Given the description of an element on the screen output the (x, y) to click on. 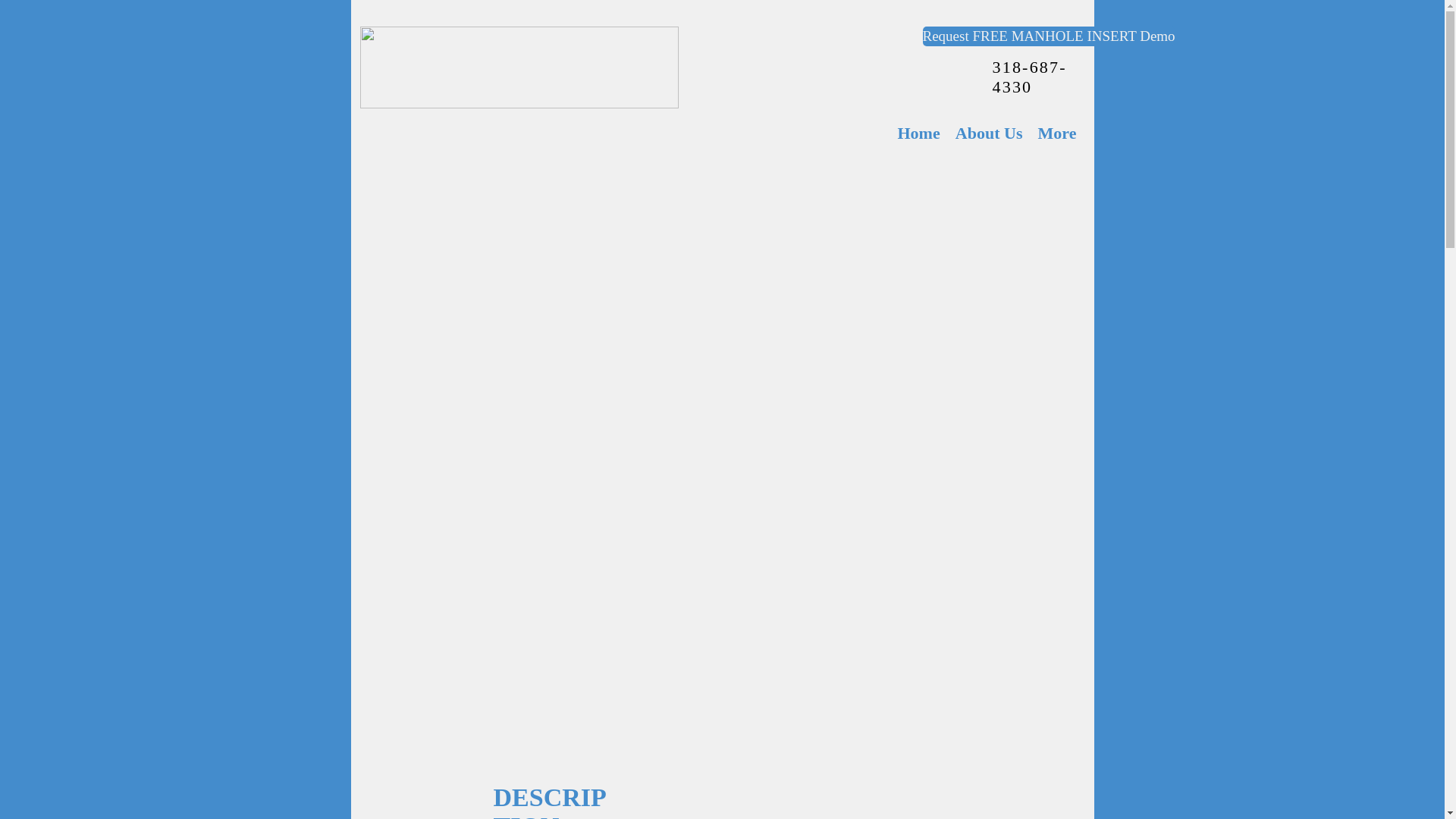
About Us (988, 133)
Request FREE MANHOLE INSERT Demo (1047, 35)
Home (918, 133)
318-687-4330 (1028, 76)
